Given the description of an element on the screen output the (x, y) to click on. 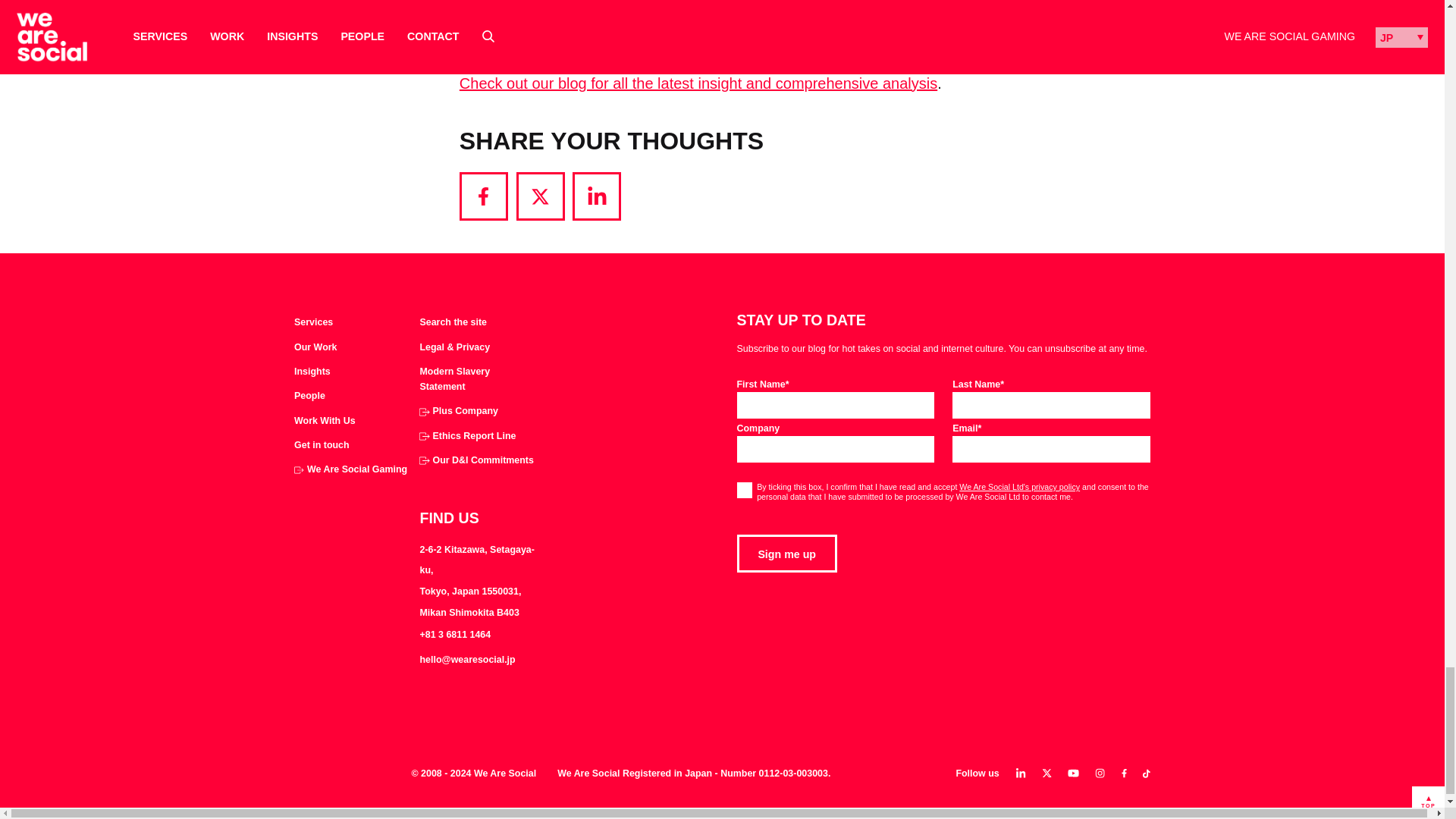
Share via Twitter (540, 195)
Get in touch (321, 445)
Share via LinkedIn (596, 195)
Legal (454, 347)
Share via Twitter (540, 195)
Search the site (452, 322)
People (309, 396)
Our Work (315, 347)
Services (313, 322)
Insights (312, 372)
About (309, 396)
Services (313, 322)
Search the site (452, 322)
